Given the description of an element on the screen output the (x, y) to click on. 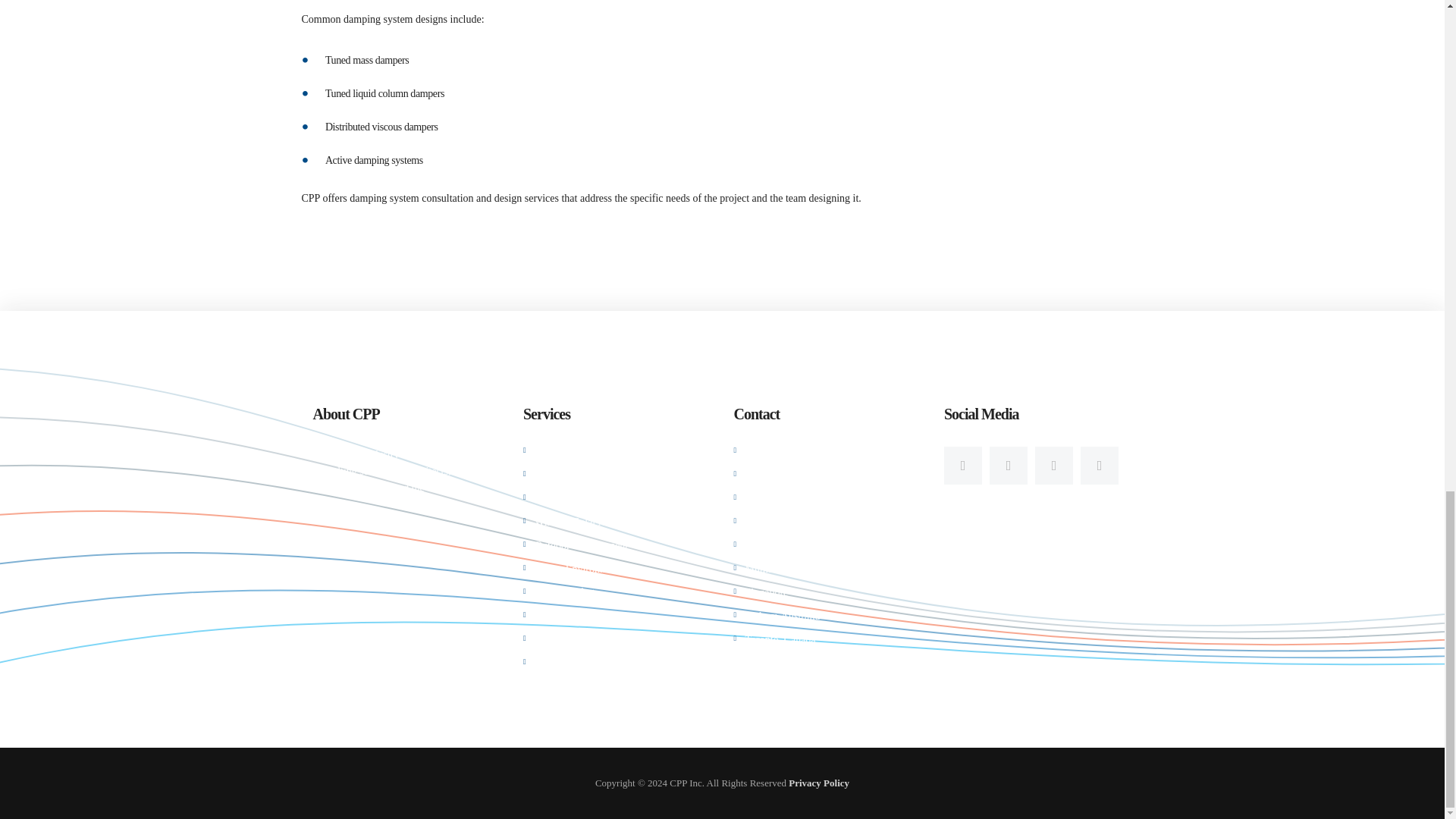
Social item (962, 465)
Social item (1054, 465)
Social item (1099, 465)
Social item (1008, 465)
